Given the description of an element on the screen output the (x, y) to click on. 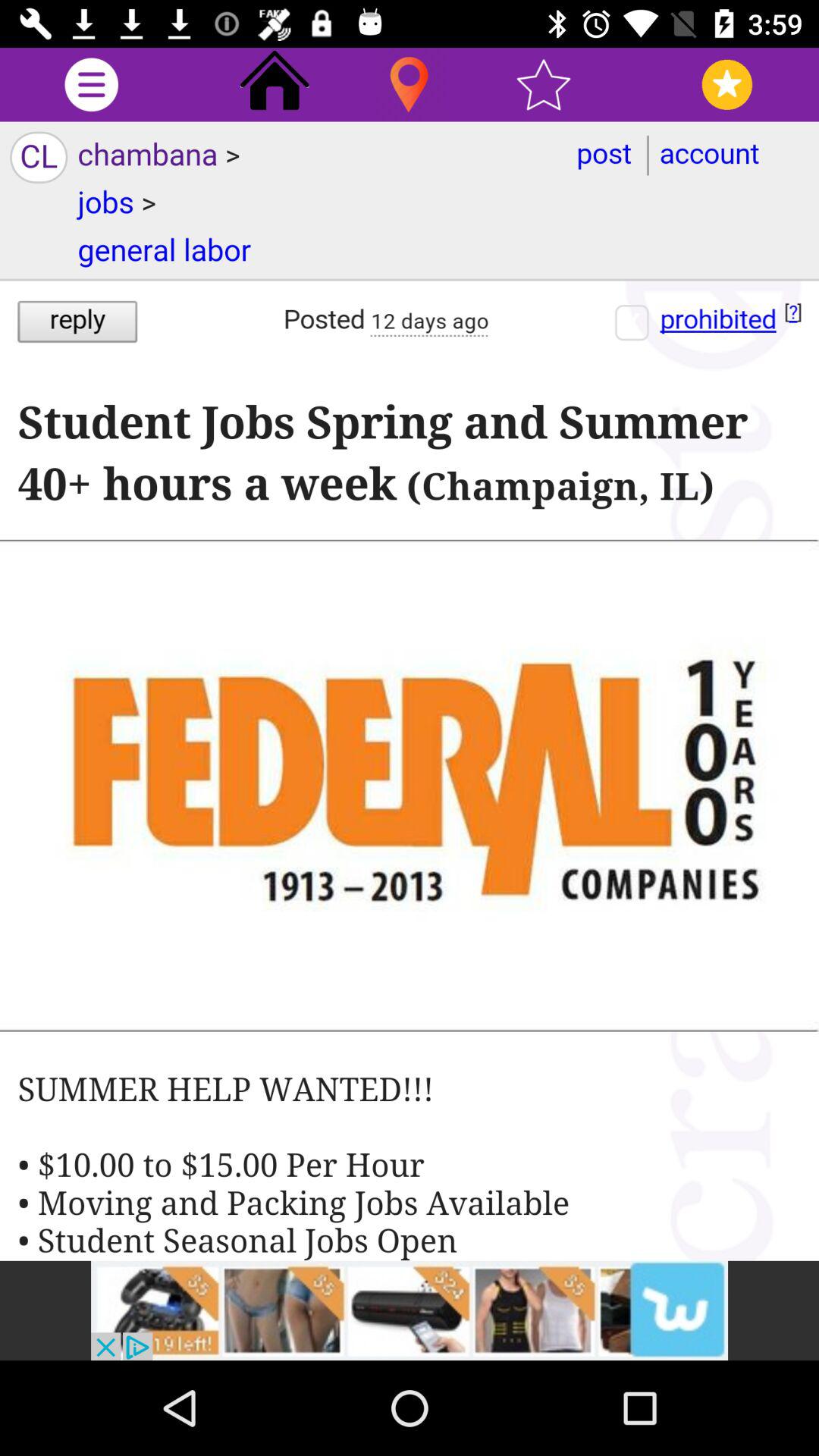
add to favorites (727, 84)
